Given the description of an element on the screen output the (x, y) to click on. 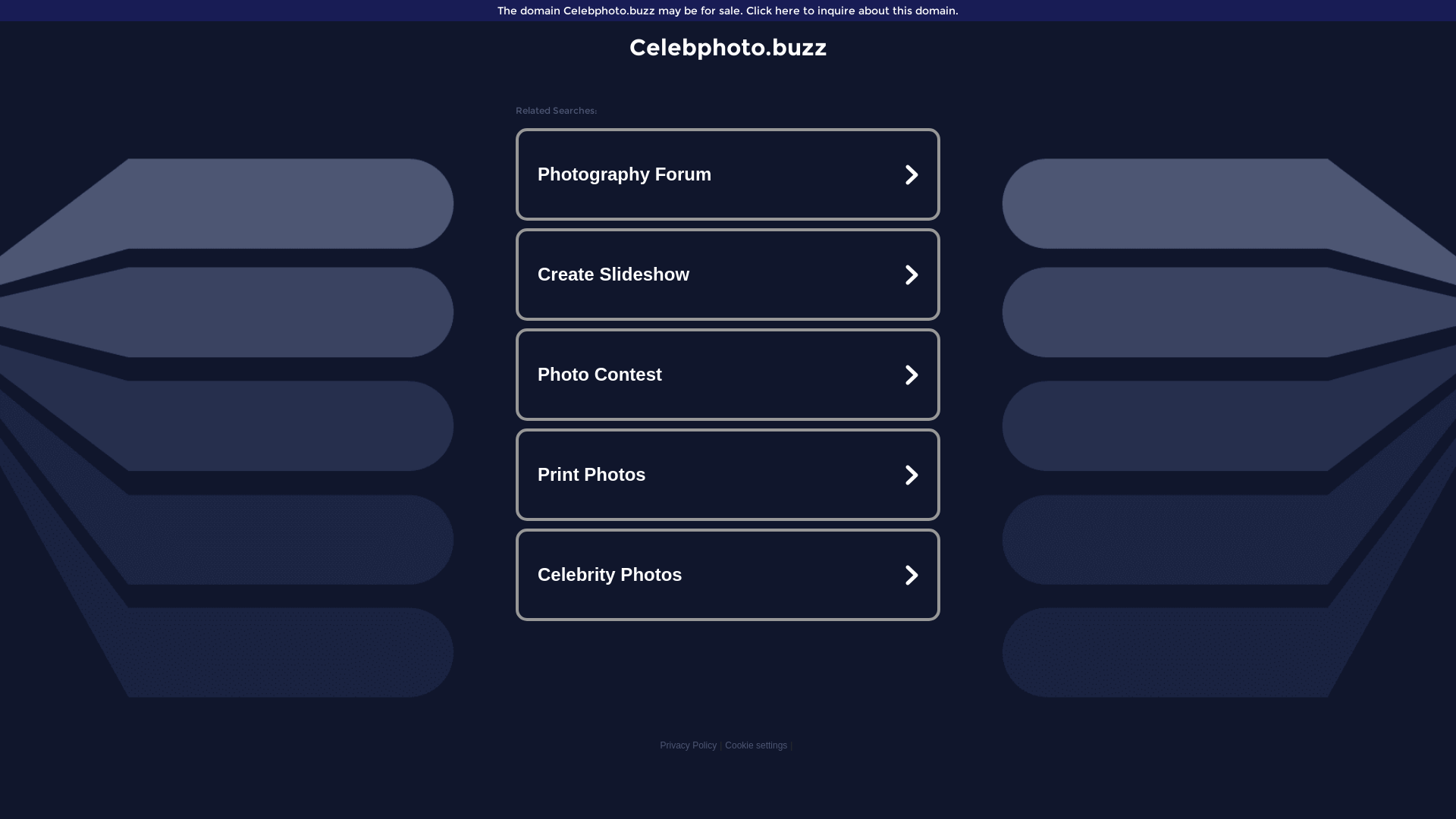
Photography Forum Element type: text (727, 174)
Cookie settings Element type: text (755, 745)
Celebphoto.buzz Element type: text (728, 47)
Print Photos Element type: text (727, 474)
Celebrity Photos Element type: text (727, 574)
Privacy Policy Element type: text (687, 745)
Photo Contest Element type: text (727, 374)
Create Slideshow Element type: text (727, 274)
